Given the description of an element on the screen output the (x, y) to click on. 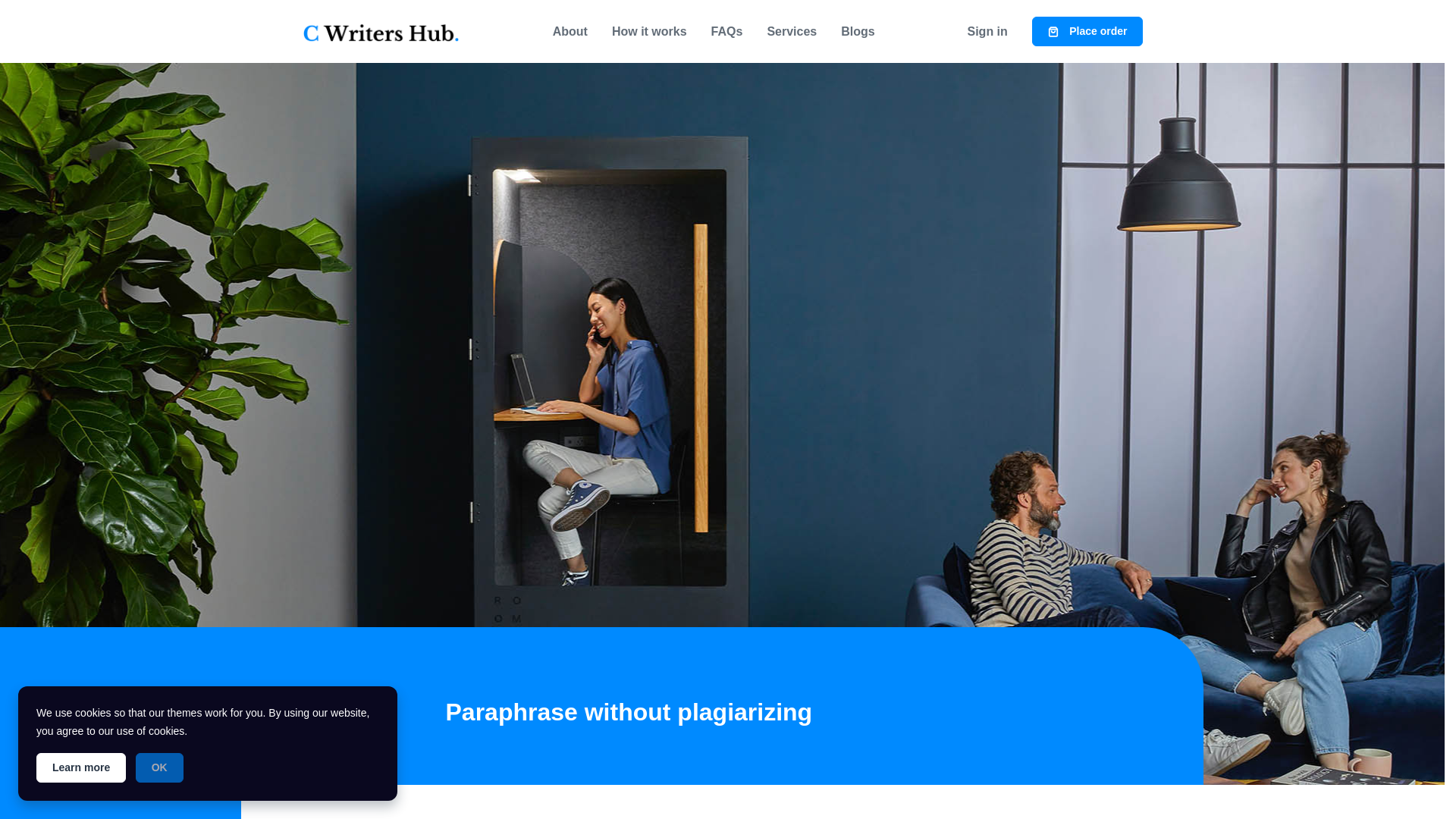
OK (159, 767)
Place order (1087, 30)
About (569, 31)
FAQs (726, 31)
Services (791, 31)
Learn more (80, 767)
Sign in (987, 31)
How it works (648, 31)
Blogs (857, 31)
